Given the description of an element on the screen output the (x, y) to click on. 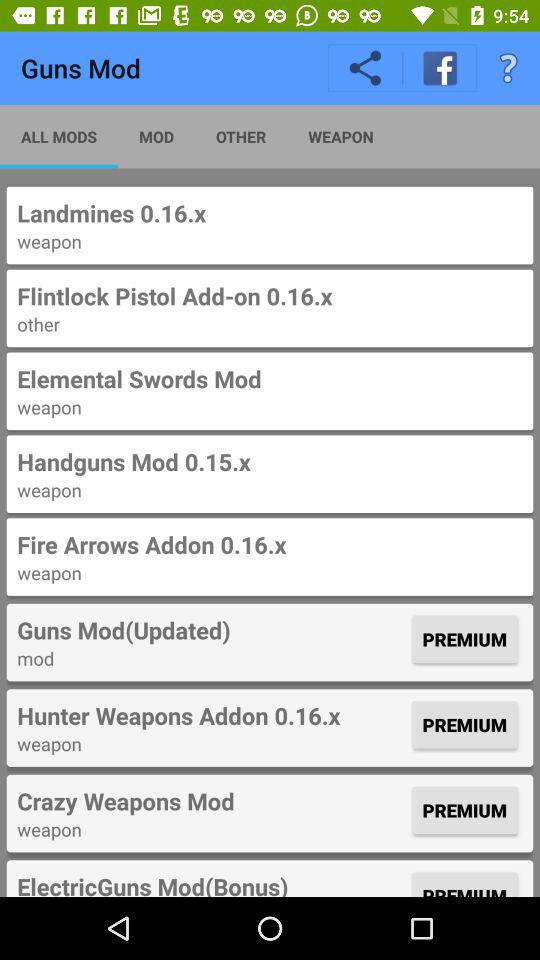
scroll until the elemental swords mod item (269, 378)
